Given the description of an element on the screen output the (x, y) to click on. 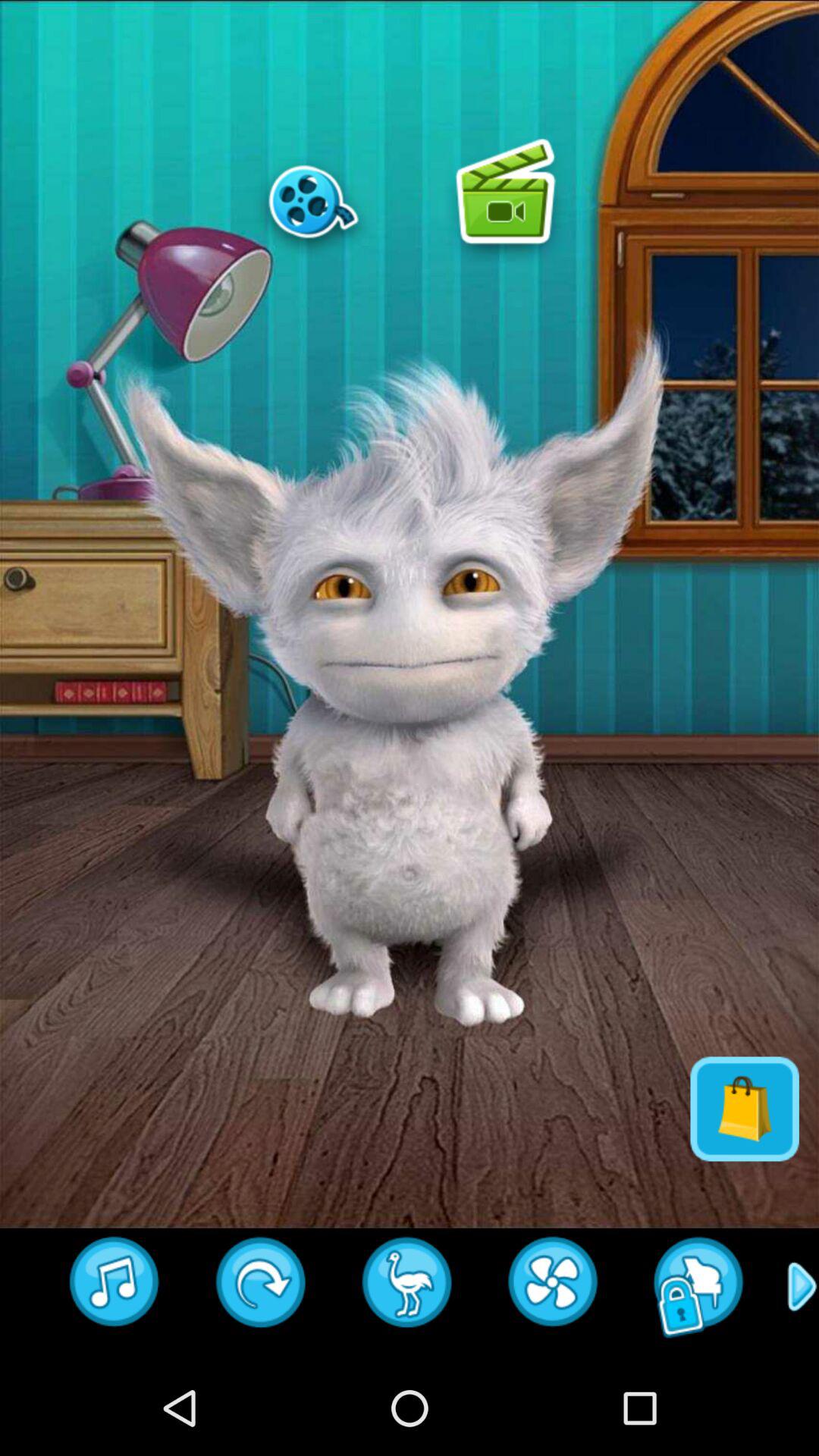
click to play (504, 200)
